Given the description of an element on the screen output the (x, y) to click on. 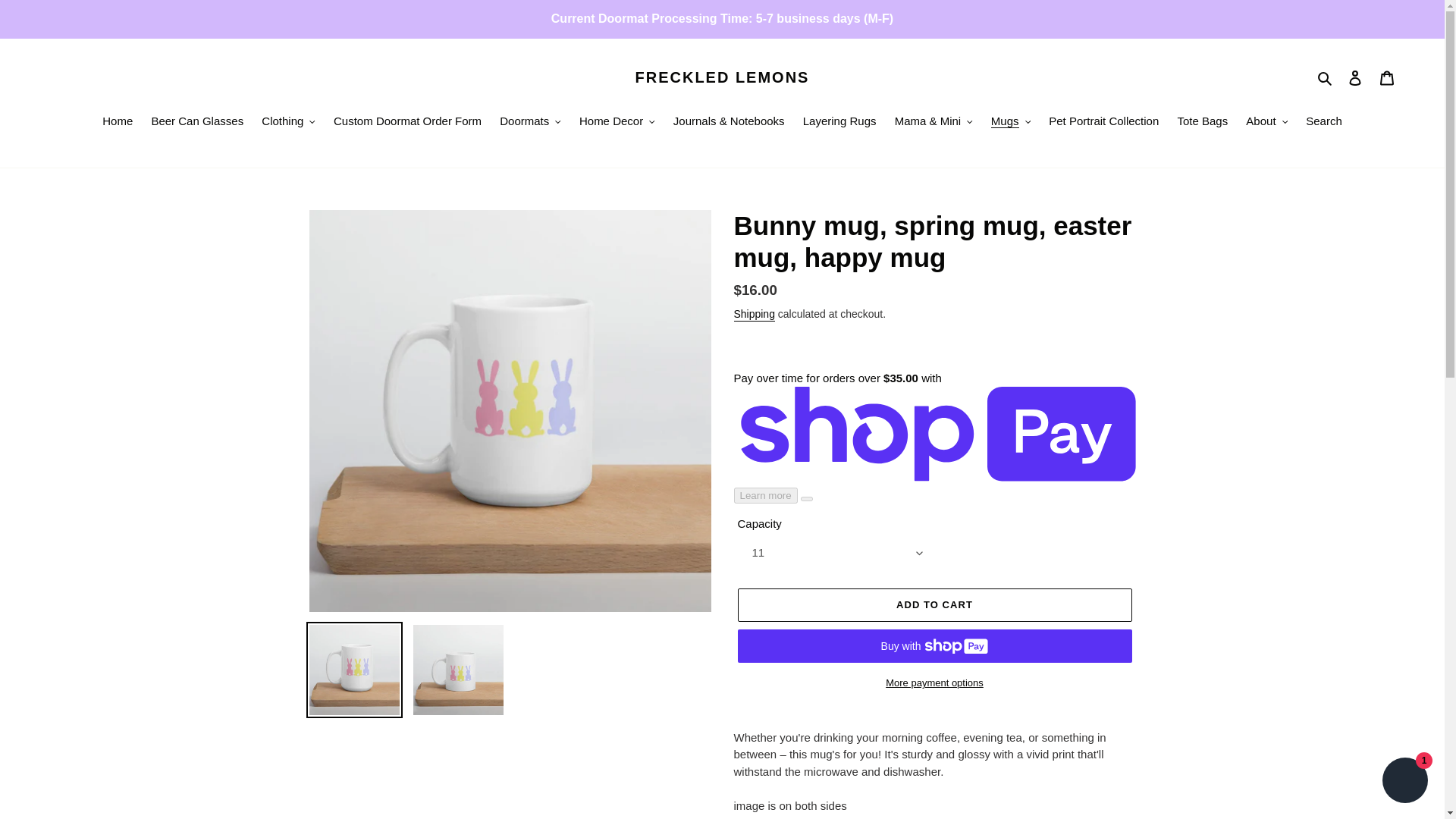
Log in (1355, 77)
Shopify online store chat (1404, 781)
Search (1326, 76)
Cart (1387, 77)
FRECKLED LEMONS (721, 76)
